Given the description of an element on the screen output the (x, y) to click on. 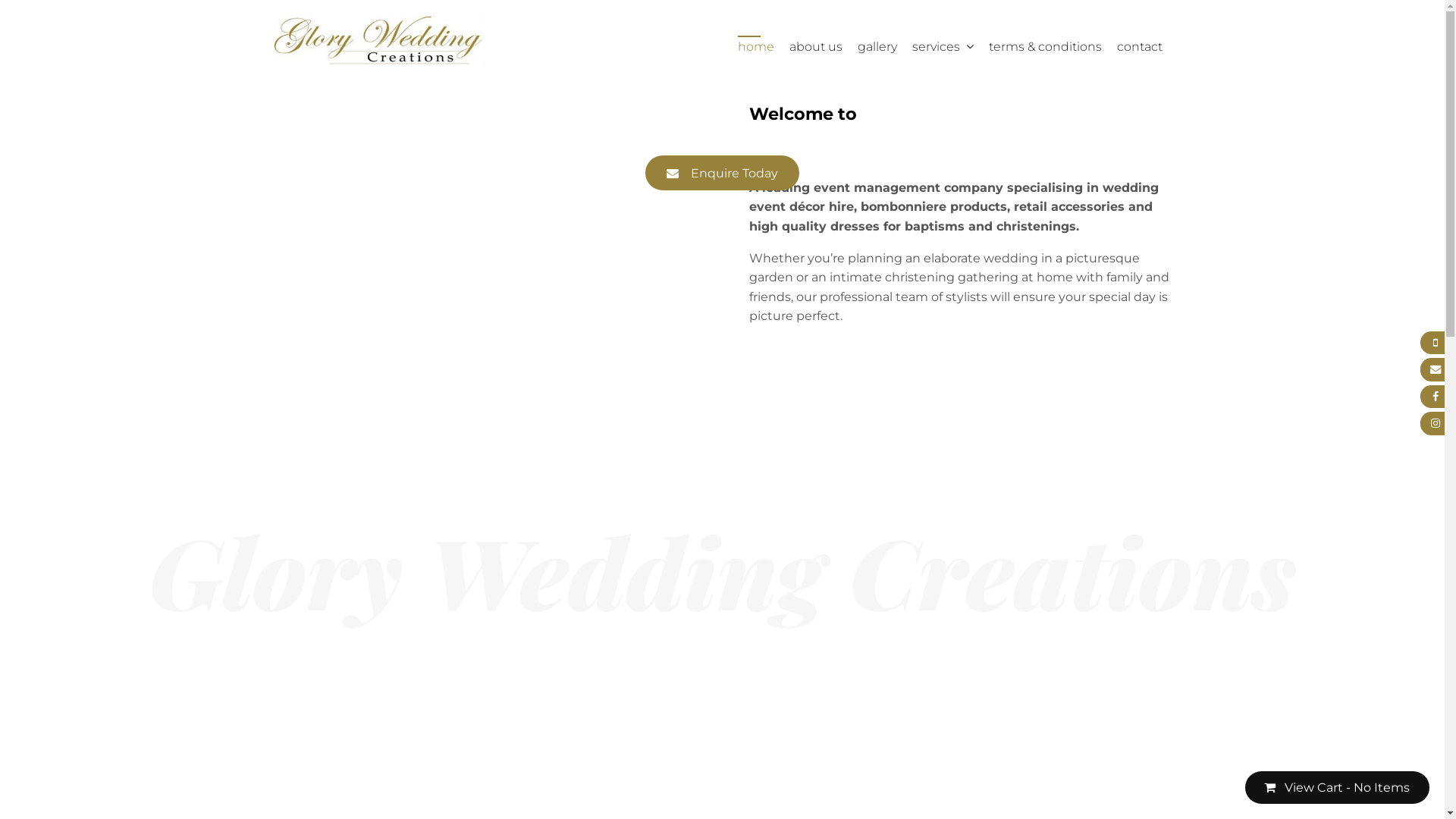
Enquire Today Element type: text (721, 173)
View Cart - No Items Element type: text (1337, 787)
services Element type: text (941, 46)
contact Element type: text (1138, 46)
gallery Element type: text (876, 46)
home Element type: text (755, 46)
about us Element type: text (815, 46)
terms & conditions Element type: text (1045, 46)
